Given the description of an element on the screen output the (x, y) to click on. 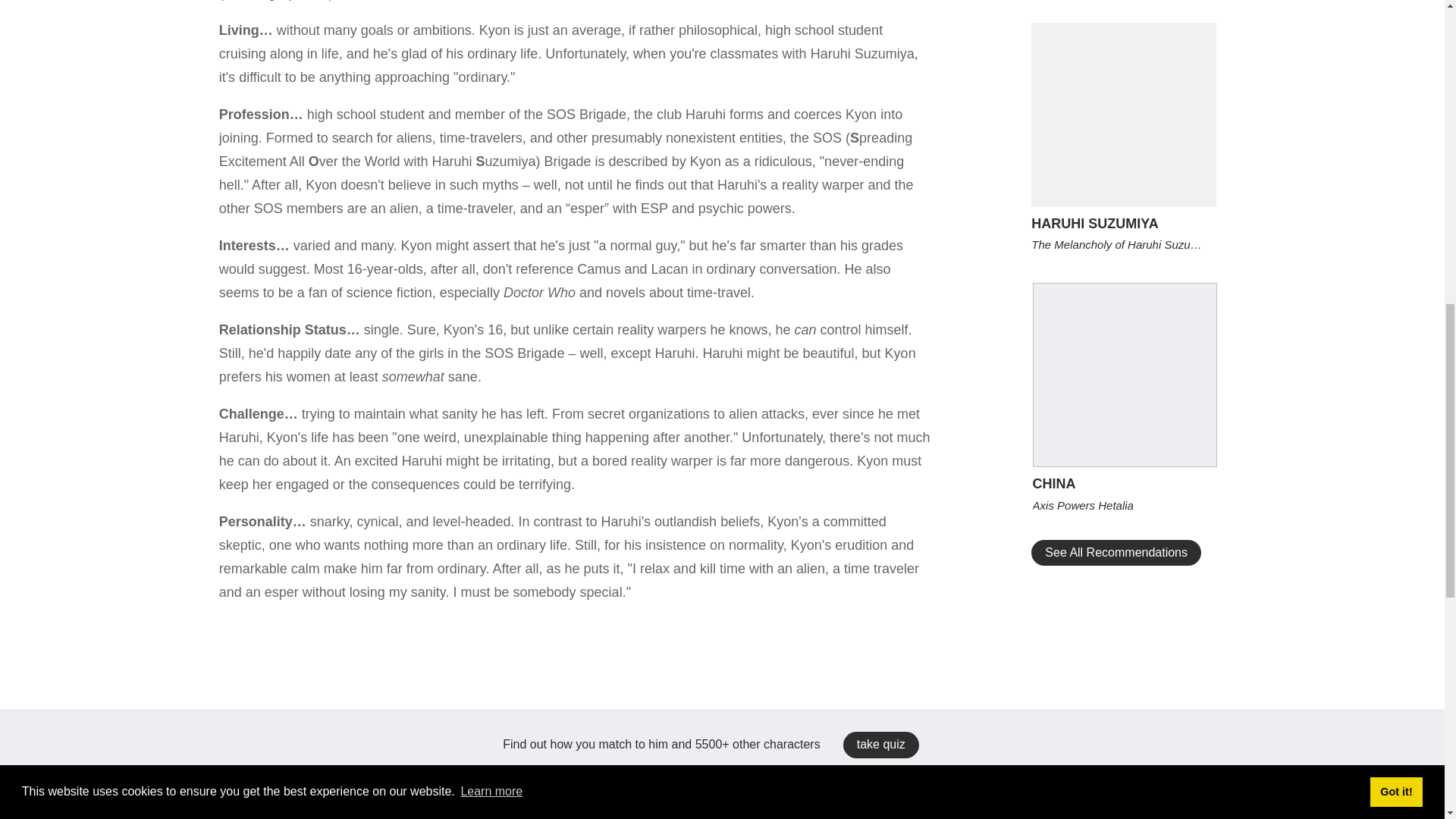
Learn More about CharacTour (722, 278)
HARUHI SUZUMIYA (1122, 223)
The Melancholy of Haruhi Suzumiya (1122, 244)
CHINA (1124, 484)
take quiz (880, 744)
Axis Powers Hetalia (1124, 505)
See All Recommendations (1115, 552)
GET STARTED (722, 245)
sign in (505, 94)
